Given the description of an element on the screen output the (x, y) to click on. 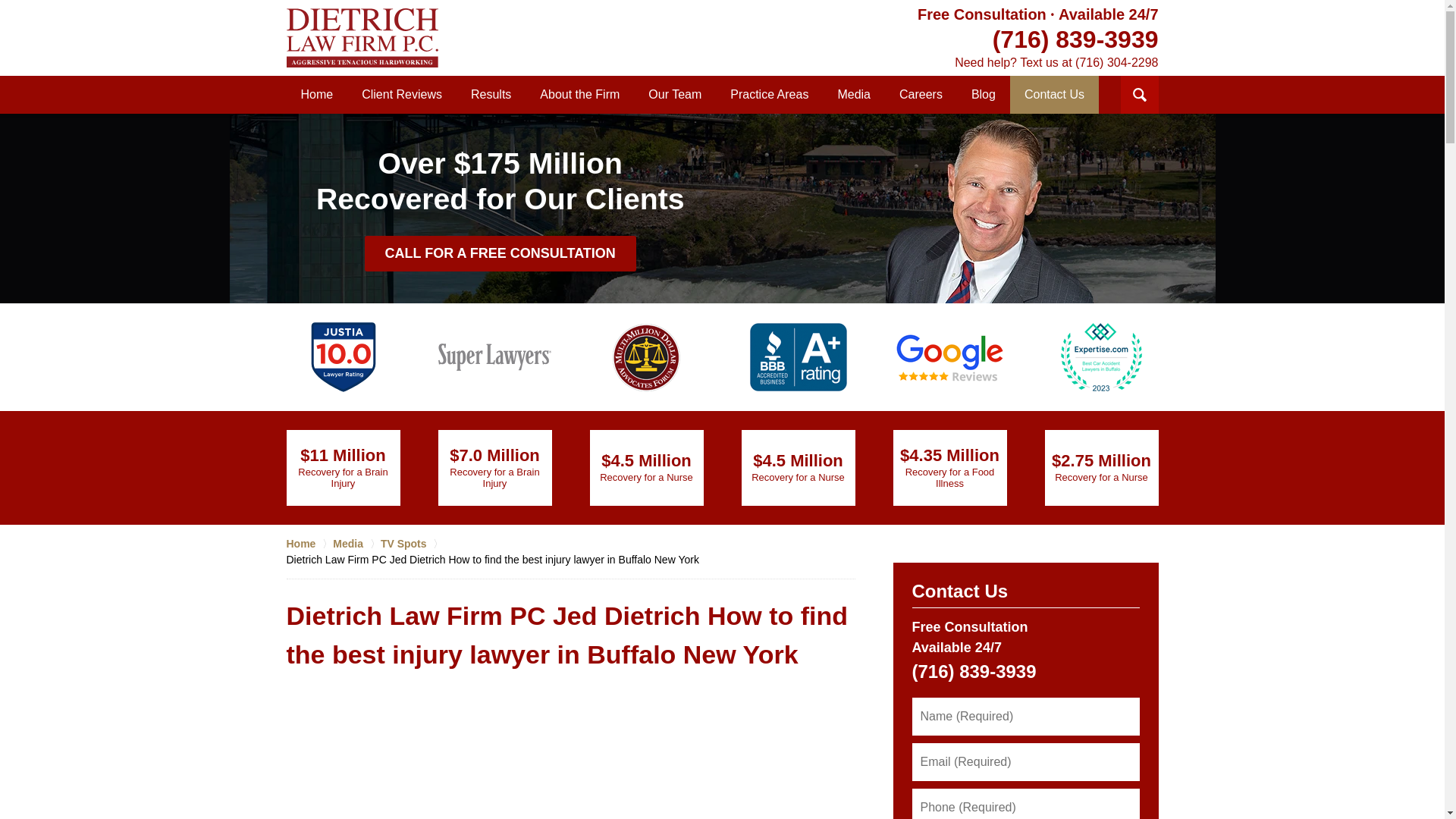
Careers (920, 94)
Practice Areas (769, 94)
Blog (983, 94)
Back to Home (362, 37)
Results (491, 94)
About the Firm (579, 94)
Client Reviews (402, 94)
Home (316, 94)
Contact Us (1054, 94)
Media (853, 94)
